Given the description of an element on the screen output the (x, y) to click on. 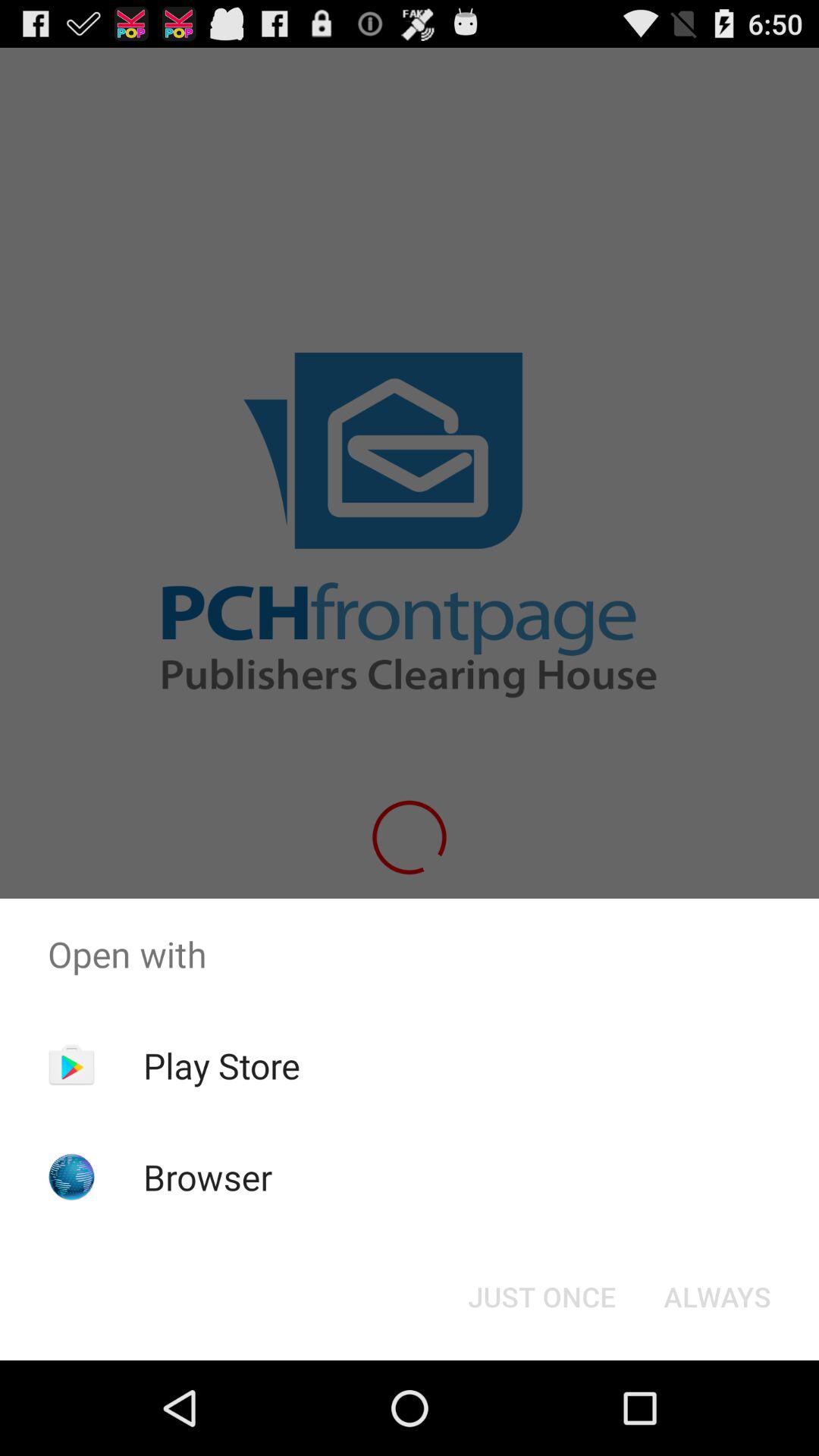
open the icon below open with (221, 1065)
